Given the description of an element on the screen output the (x, y) to click on. 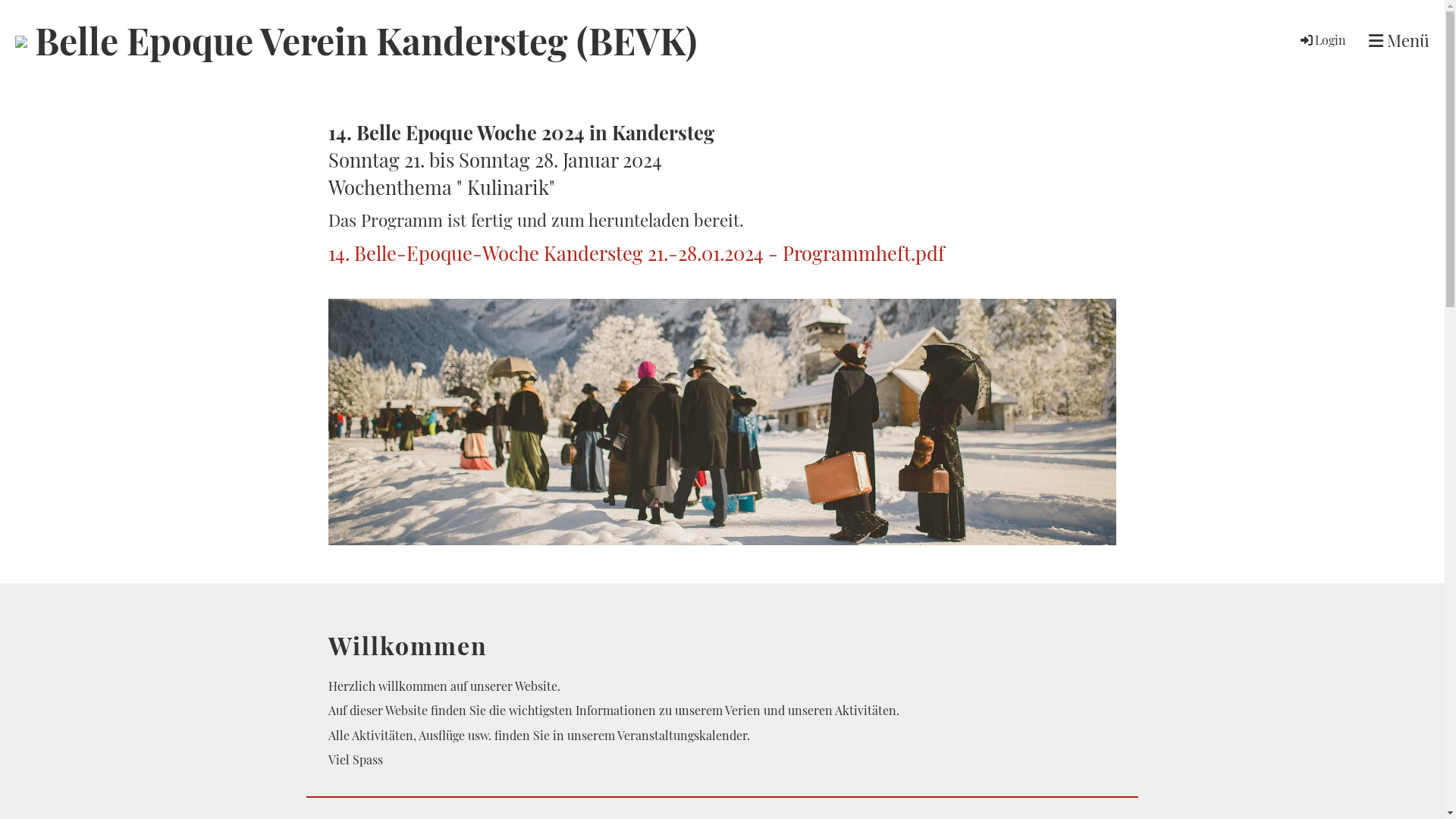
Login Element type: text (1322, 39)
Belle Epoque Verein Kandersteg (BEVK) Element type: text (365, 40)
